Given the description of an element on the screen output the (x, y) to click on. 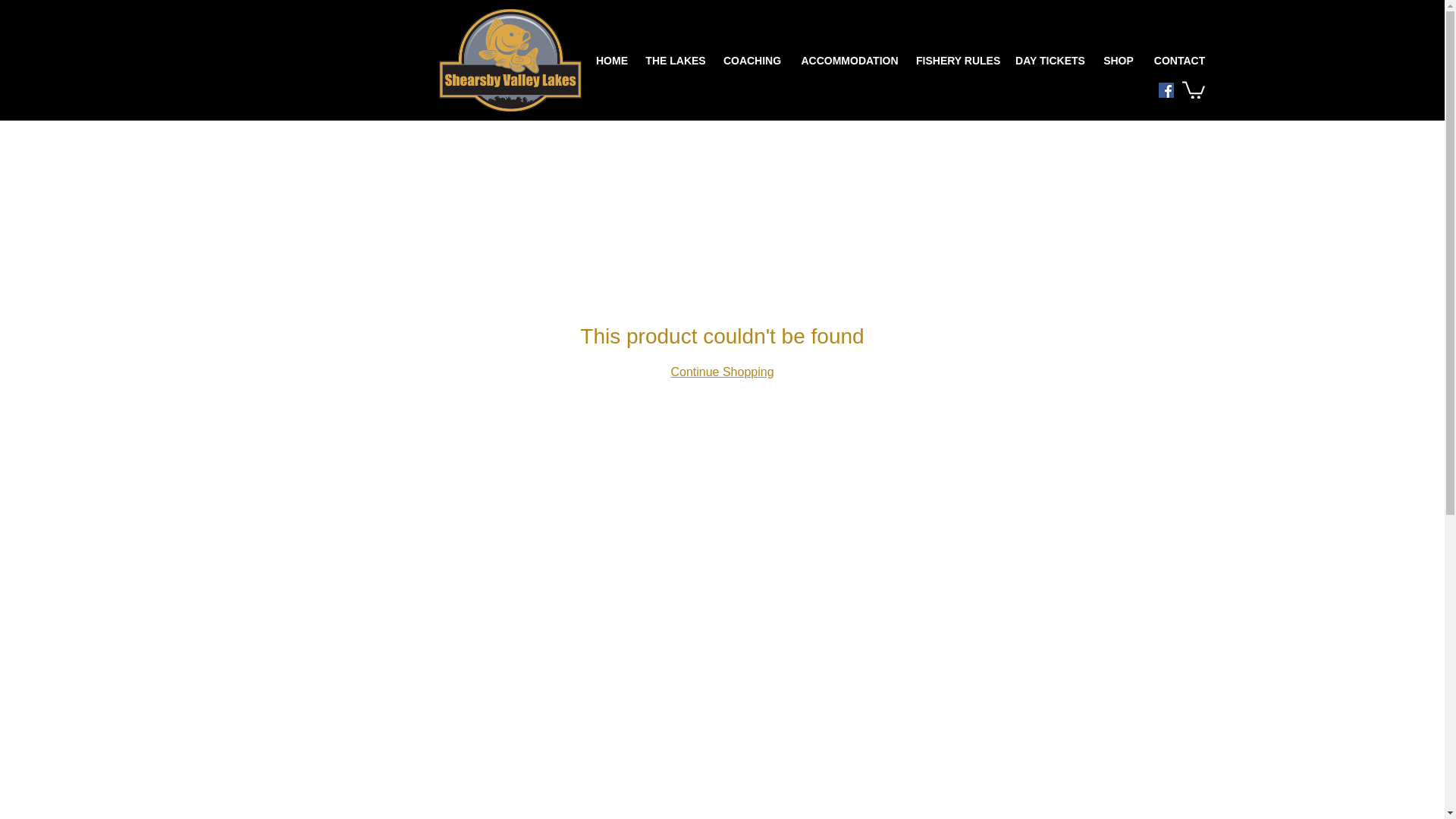
FISHERY RULES (957, 60)
Continue Shopping (721, 371)
SHOP (1117, 60)
THE LAKES (675, 60)
CONTACT (1178, 60)
ACCOMMODATION (849, 60)
COACHING (751, 60)
HOME (611, 60)
DAY TICKETS (1050, 60)
